Given the description of an element on the screen output the (x, y) to click on. 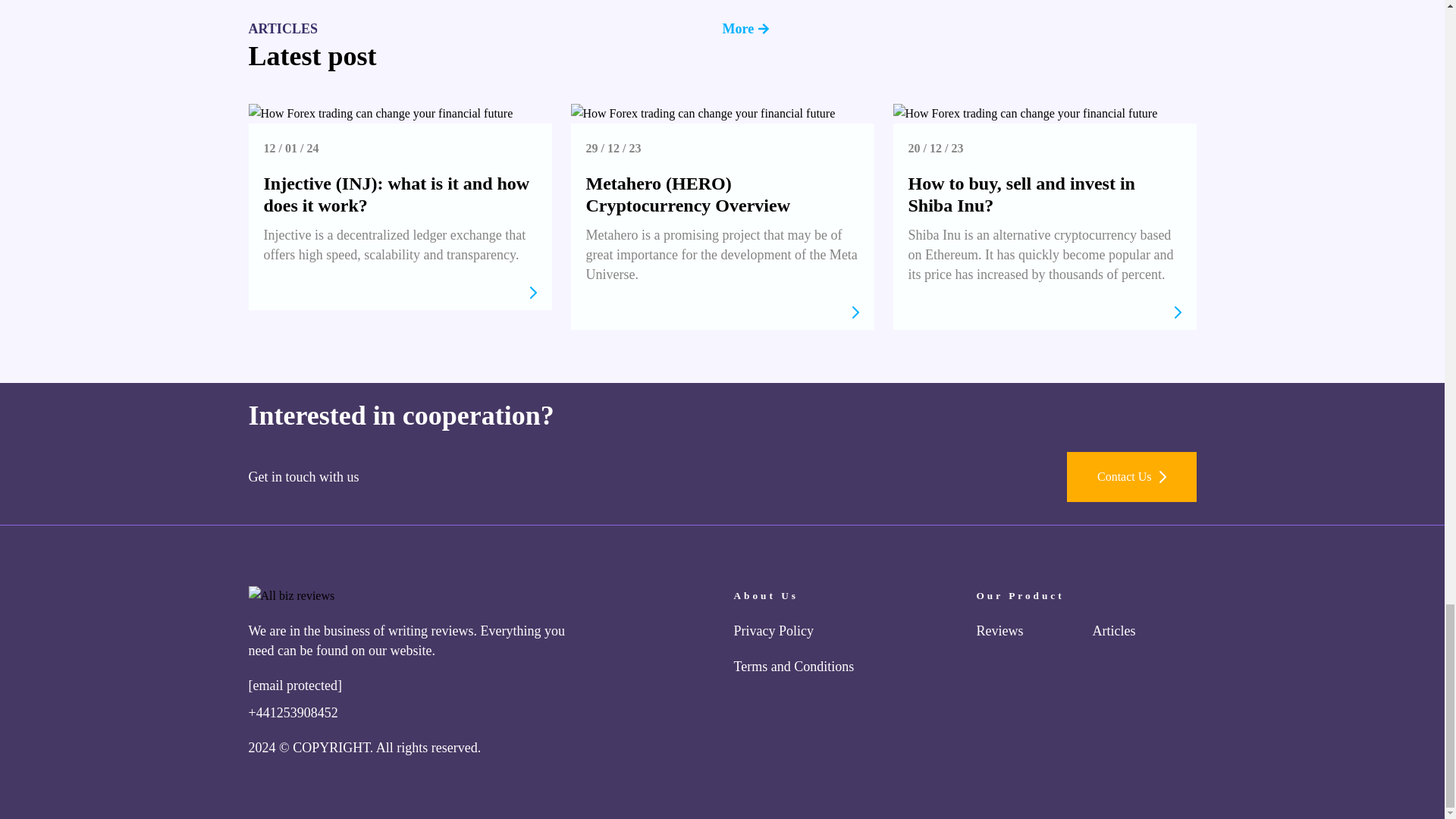
All biz reviews (291, 596)
More (958, 28)
How to buy, sell and invest in Shiba Inu? (1021, 194)
Terms and Conditions (793, 666)
Articles (1113, 630)
Contact Us (1131, 477)
Privacy Policy (773, 630)
Reviews (999, 630)
